Given the description of an element on the screen output the (x, y) to click on. 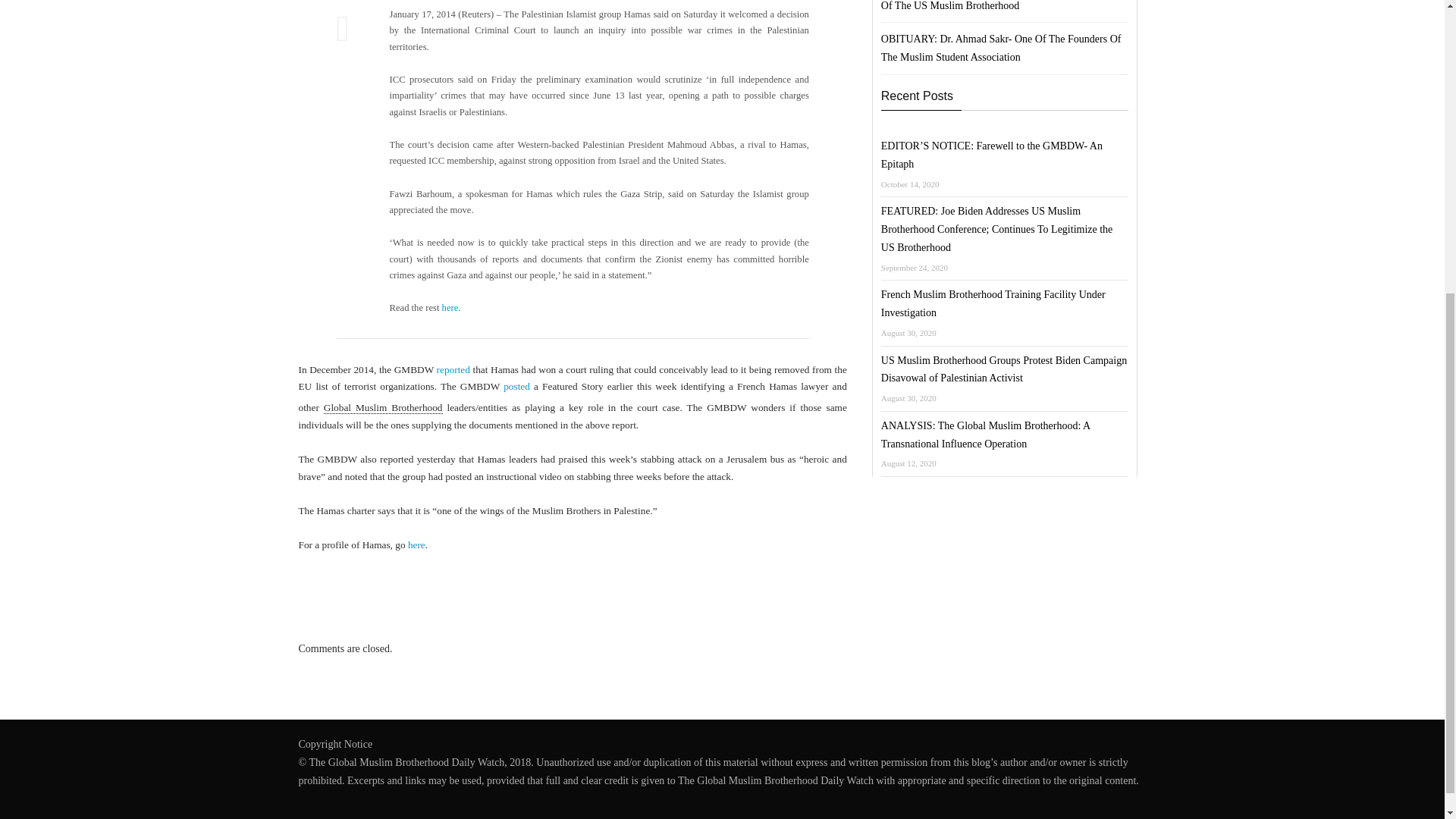
posted (516, 386)
reported (453, 369)
here (450, 307)
Global Muslim Brotherhood (382, 408)
here (416, 544)
